Given the description of an element on the screen output the (x, y) to click on. 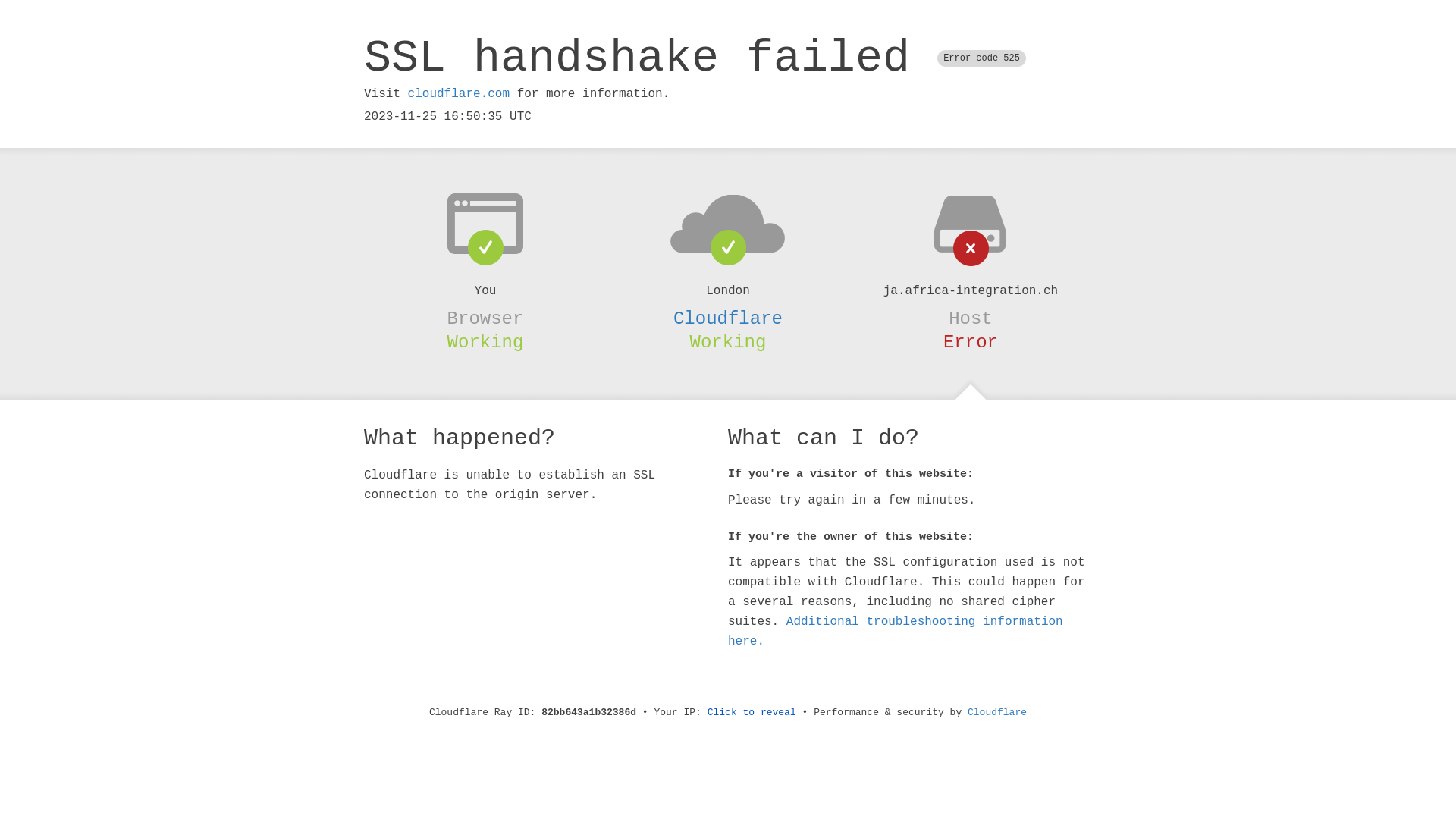
Additional troubleshooting information here. Element type: text (895, 631)
Cloudflare Element type: text (996, 712)
Click to reveal Element type: text (751, 712)
cloudflare.com Element type: text (458, 93)
Cloudflare Element type: text (727, 318)
